Given the description of an element on the screen output the (x, y) to click on. 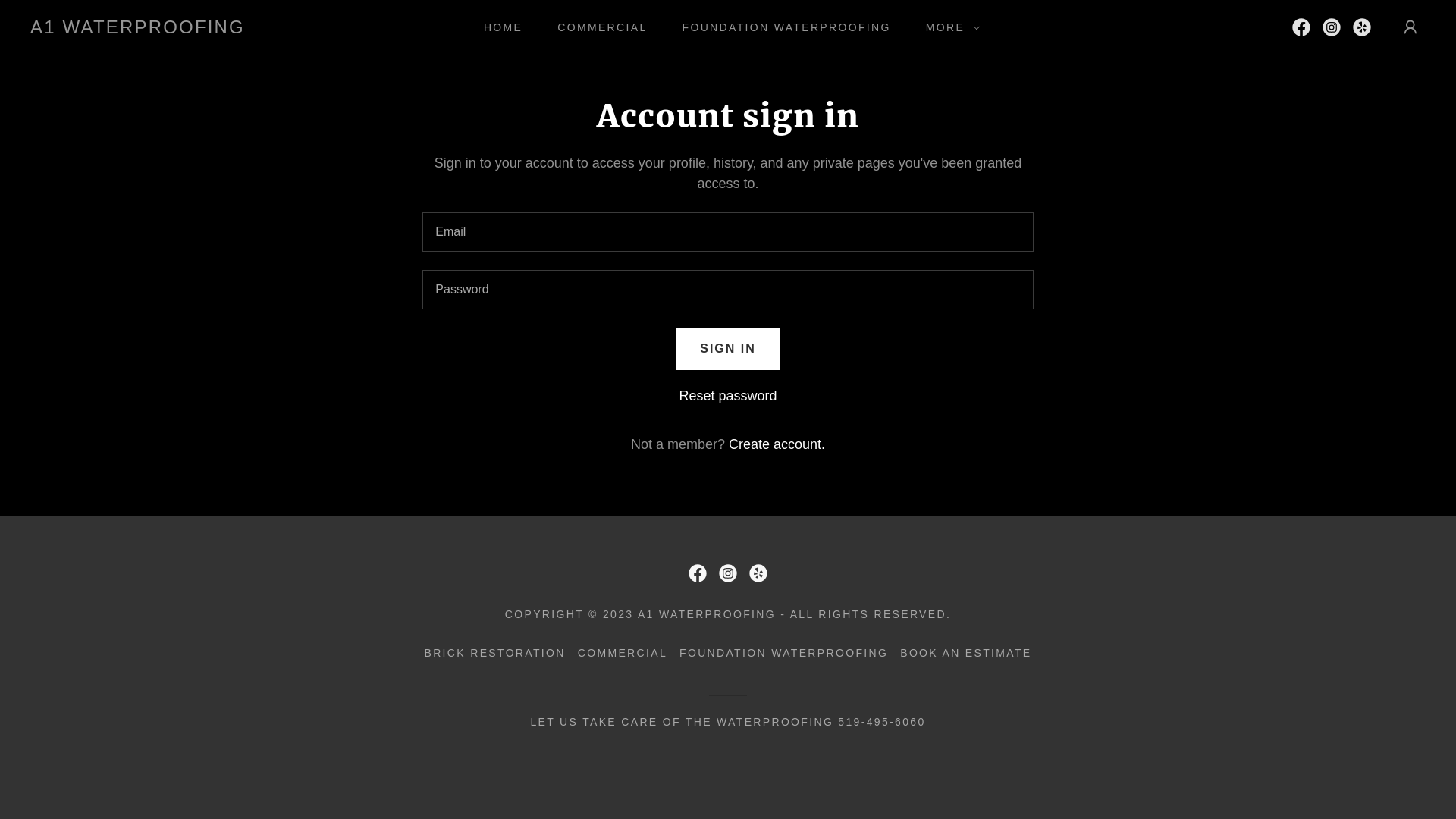
MORE Element type: text (948, 27)
BOOK AN ESTIMATE Element type: text (965, 652)
SIGN IN Element type: text (727, 348)
HOME Element type: text (497, 26)
FOUNDATION WATERPROOFING Element type: text (781, 26)
COMMERCIAL Element type: text (596, 26)
BRICK RESTORATION Element type: text (494, 652)
A1 WATERPROOFING Element type: text (137, 28)
COMMERCIAL Element type: text (622, 652)
Create account. Element type: text (776, 443)
FOUNDATION WATERPROOFING Element type: text (783, 652)
Reset password Element type: text (727, 395)
